Given the description of an element on the screen output the (x, y) to click on. 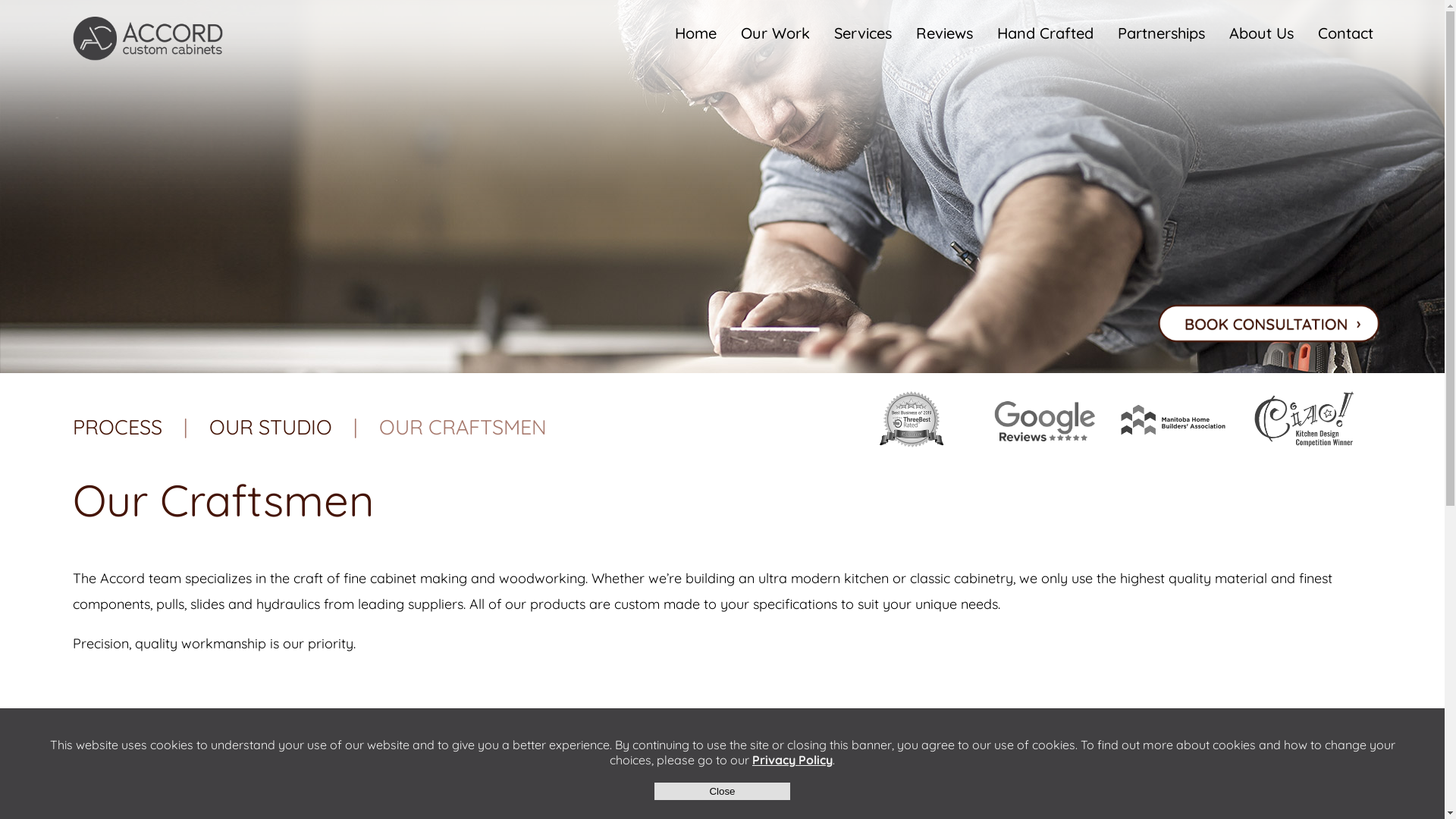
Home Element type: text (695, 32)
OUR STUDIO Element type: text (270, 426)
Close Element type: text (722, 791)
Reviews Element type: text (944, 32)
Partnerships Element type: text (1161, 32)
Our Work Element type: text (775, 32)
Privacy Policy Element type: text (792, 759)
PROCESS Element type: text (117, 426)
About Us Element type: text (1261, 32)
Services Element type: text (862, 32)
Contact Element type: text (1345, 32)
Hand Crafted Element type: text (1045, 32)
